Given the description of an element on the screen output the (x, y) to click on. 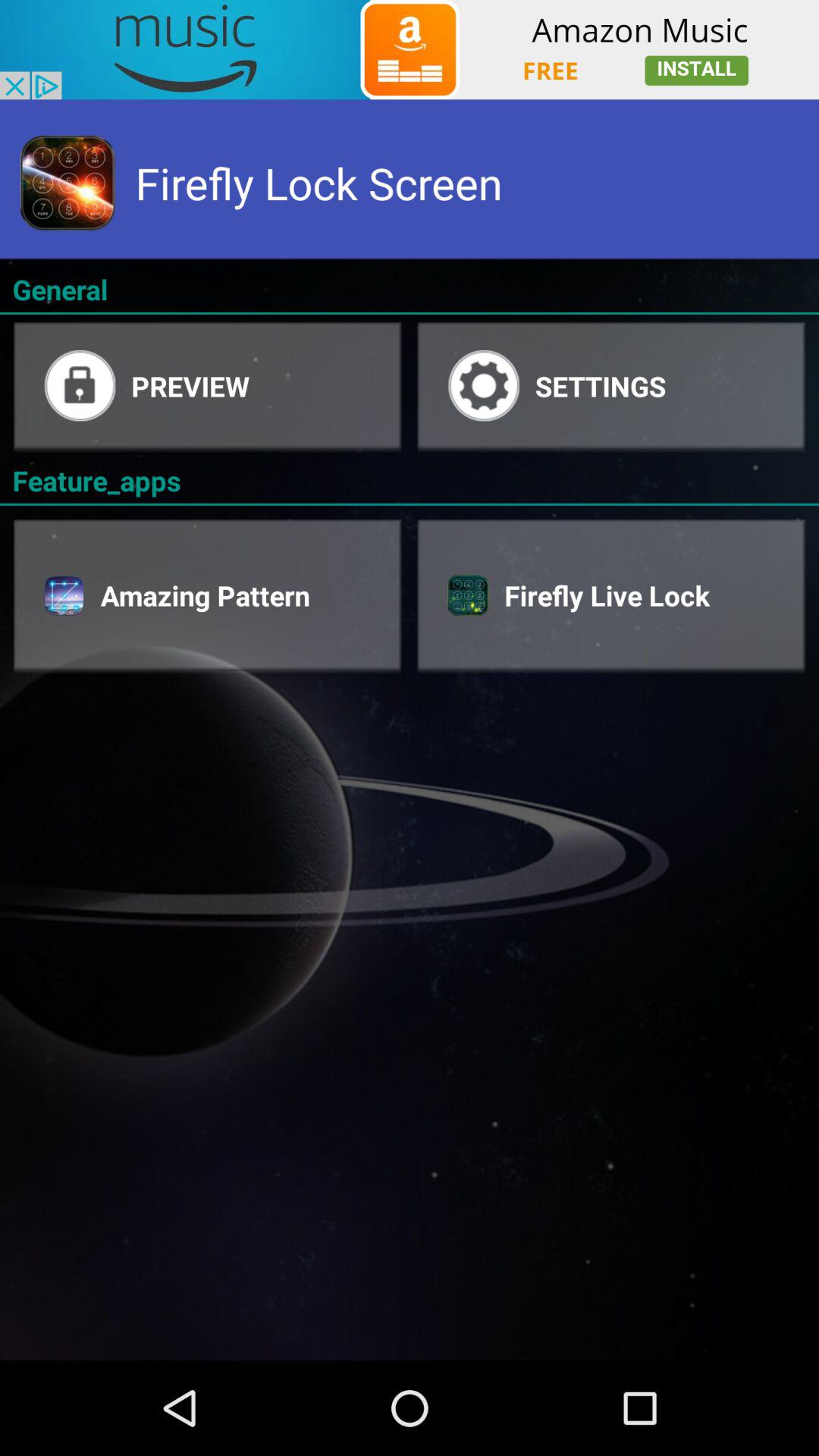
advertisement (409, 49)
